Given the description of an element on the screen output the (x, y) to click on. 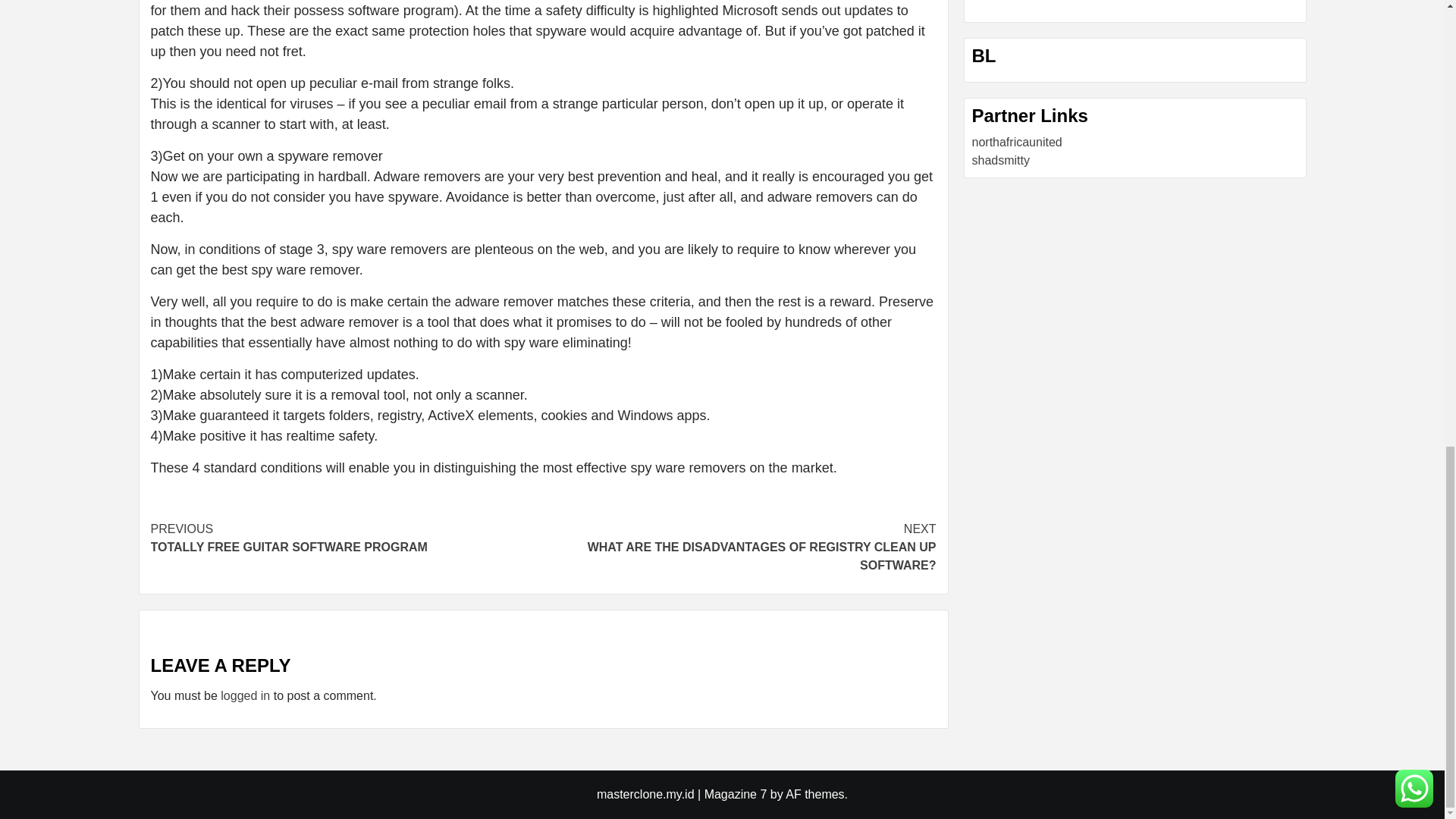
logged in (245, 695)
